Given the description of an element on the screen output the (x, y) to click on. 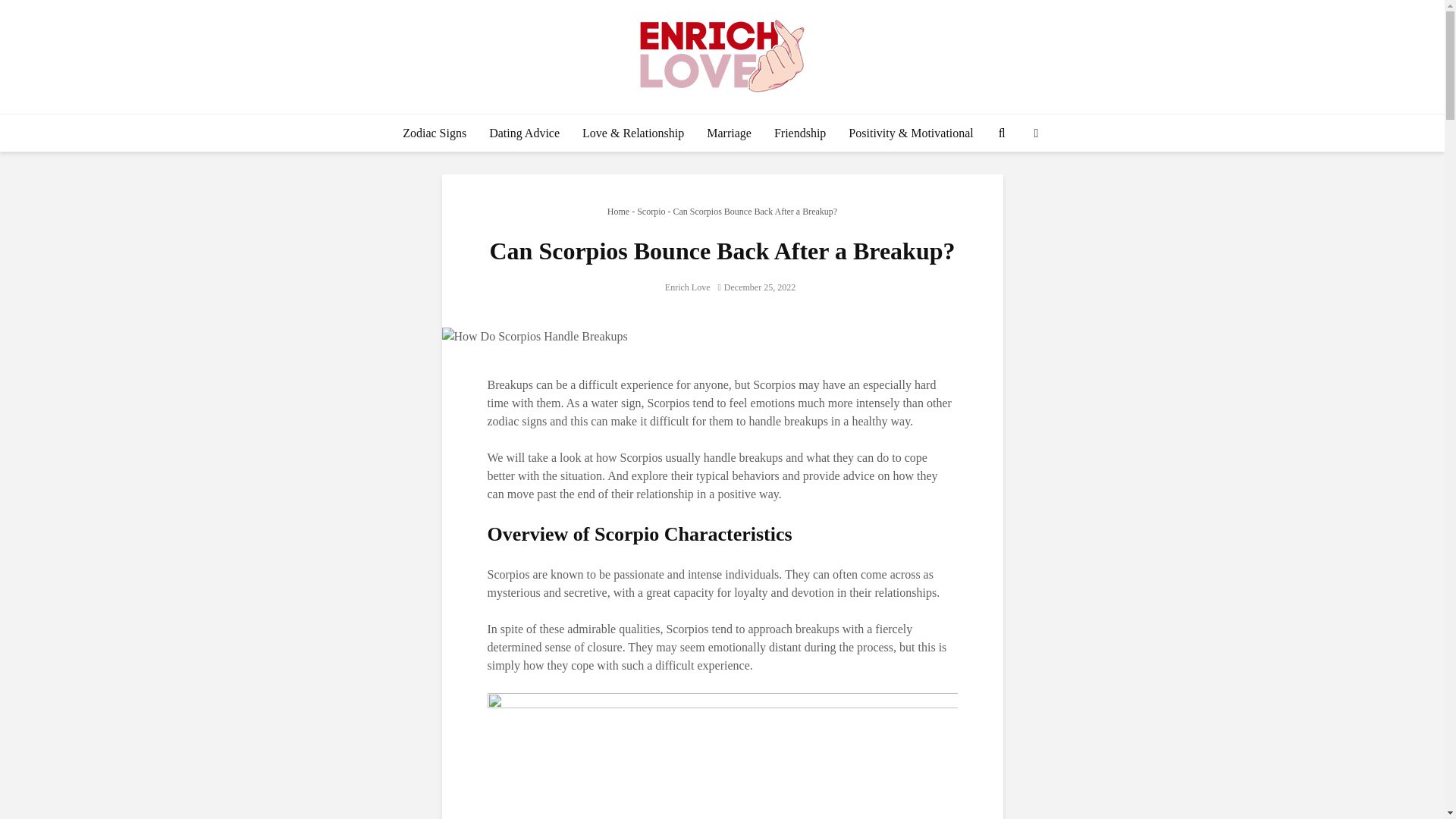
Enrich Love (676, 286)
Home (617, 211)
Dating Advice (523, 133)
Scorpio (651, 211)
Marriage (728, 133)
Zodiac Signs (434, 133)
Friendship (799, 133)
